Given the description of an element on the screen output the (x, y) to click on. 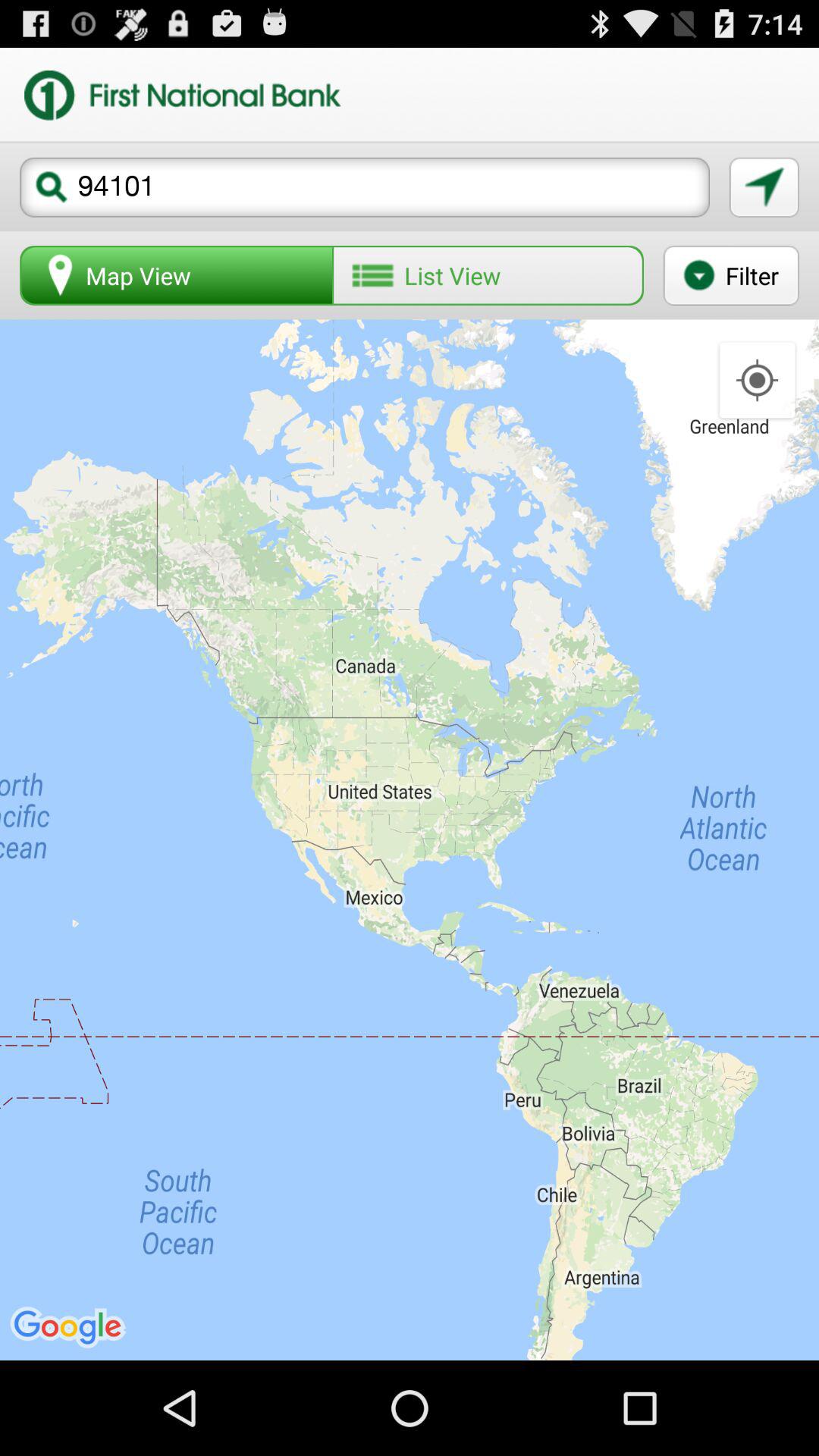
turn on button above the map view icon (364, 187)
